Given the description of an element on the screen output the (x, y) to click on. 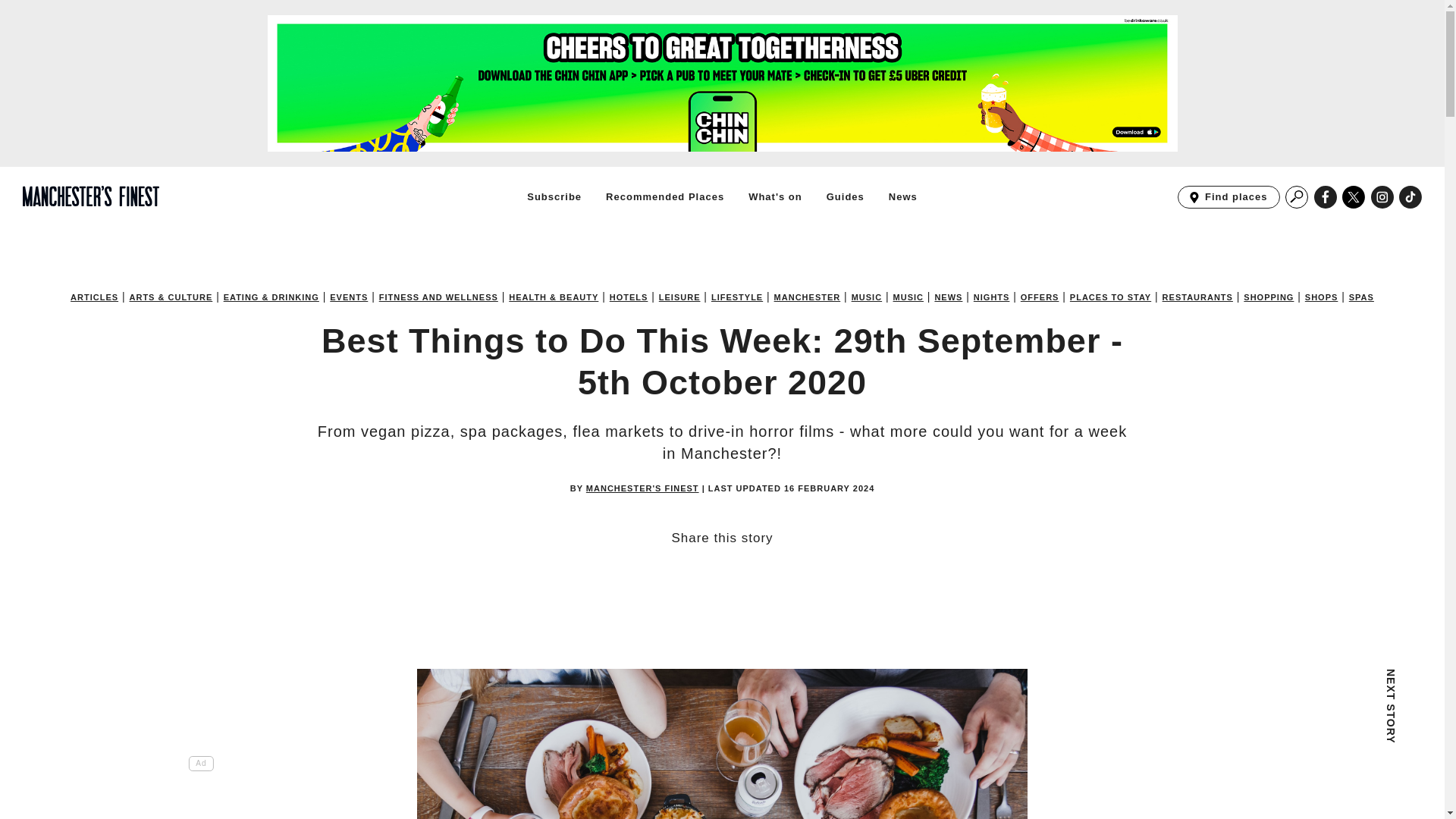
Go to Manchester's Finest Facebook page (1325, 196)
Go to Manchester's Finest X profile (1353, 196)
Go to Manchester's Finest Instagram profile (1382, 196)
Go to Manchester's Finest Facebook page (1228, 196)
Subscribe (1325, 196)
HOTELS (553, 196)
Go to Manchester's Finest TikTok profile (628, 297)
Go to Manchester's Finest Instagram profile (1410, 196)
Recommended Places (1382, 196)
LIFESTYLE (664, 196)
Go to Manchester's Finest X profile (736, 297)
What's on (1353, 196)
Search Manchester's Finest (775, 196)
Guides (1296, 196)
